Given the description of an element on the screen output the (x, y) to click on. 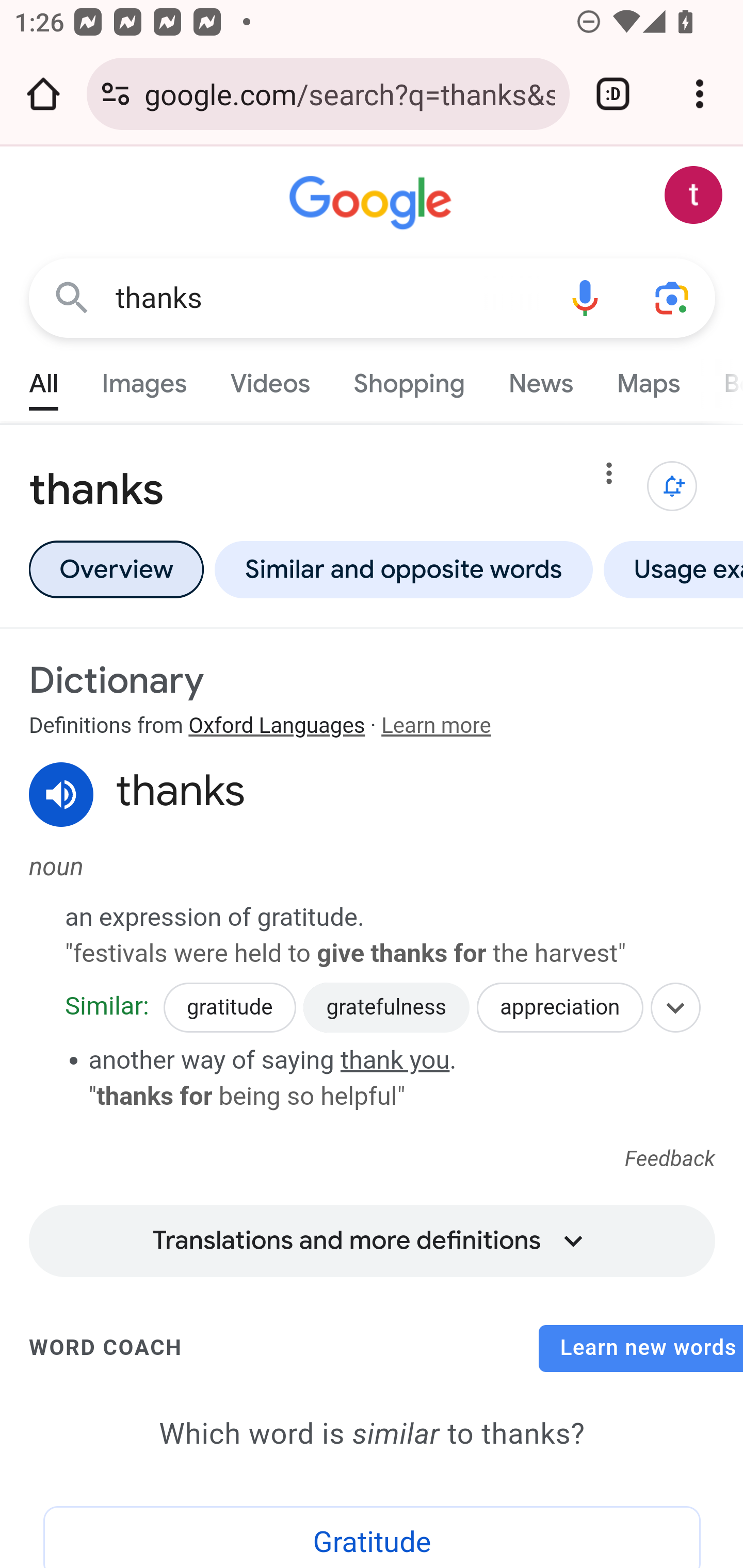
Open the home page (43, 93)
Connection is secure (115, 93)
Switch or close tabs (612, 93)
Customize and control Google Chrome (699, 93)
Google (372, 203)
Google Search (71, 296)
Search using your camera or photos (672, 296)
thanks (328, 297)
Images (144, 378)
Videos (270, 378)
Shopping (408, 378)
News (540, 378)
Maps (647, 378)
Get notifications about Word of the day (672, 485)
More options (609, 477)
Overview (116, 569)
Similar and opposite words (403, 569)
Usage examples (670, 569)
Oxford Languages (276, 726)
Learn more (435, 726)
 Listen  (61, 794)
gratitude (229, 1007)
appreciation (560, 1007)
thank you (395, 1058)
Feedback (669, 1160)
Translations and more definitions (371, 1233)
Gratitude (372, 1536)
